Given the description of an element on the screen output the (x, y) to click on. 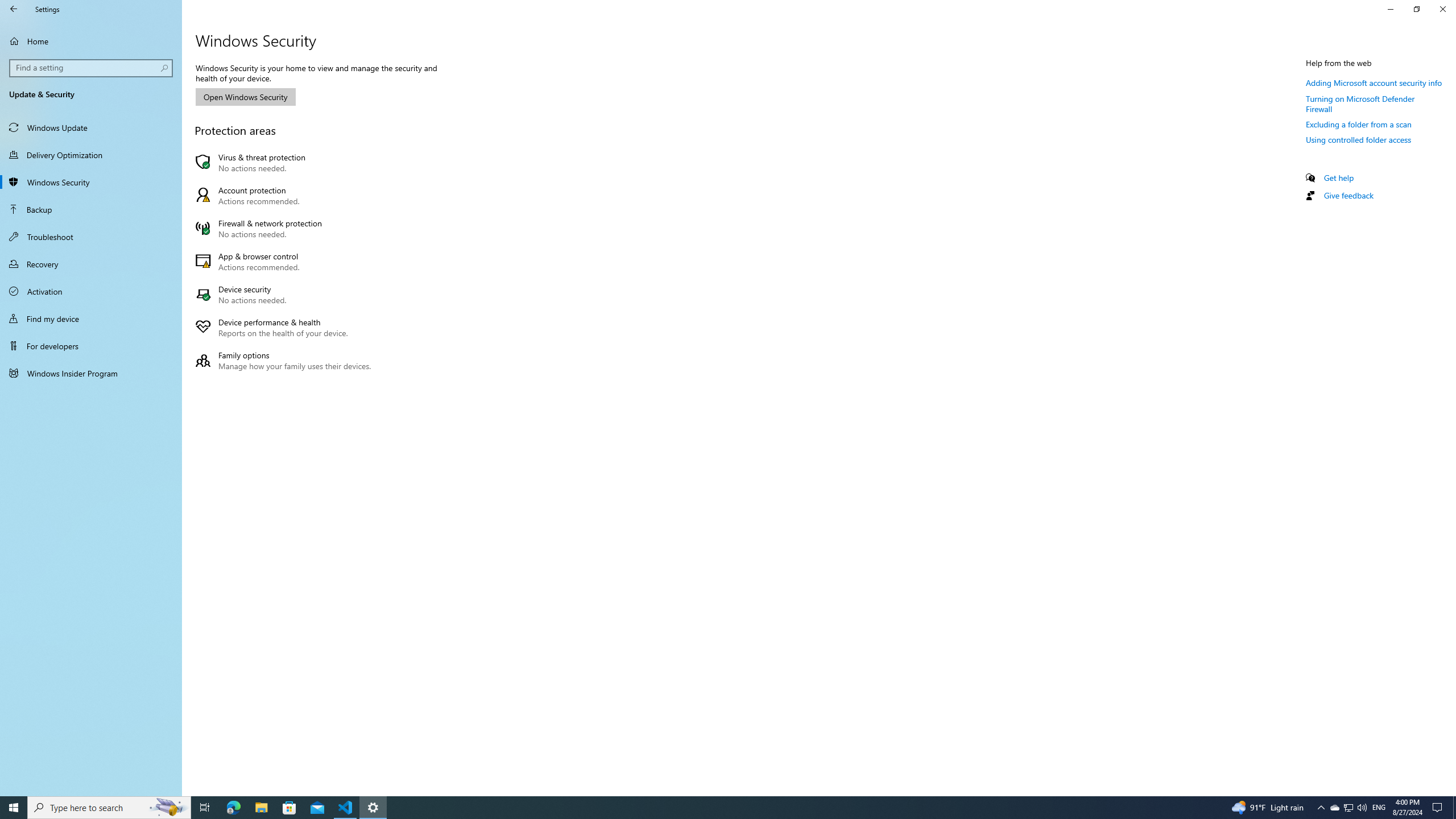
Microsoft Edge (233, 807)
Show desktop (1454, 807)
Device performance & health (285, 327)
Visual Studio Code - 1 running window (345, 807)
Give feedback (1348, 195)
Task View (204, 807)
Notification Chevron (1320, 807)
Adding Microsoft account security info (1374, 82)
Start (13, 807)
For developers (91, 345)
Restore Settings (1416, 9)
Windows Insider Program (91, 372)
Account protection Actions recommended. (285, 195)
Delivery Optimization (91, 154)
